Given the description of an element on the screen output the (x, y) to click on. 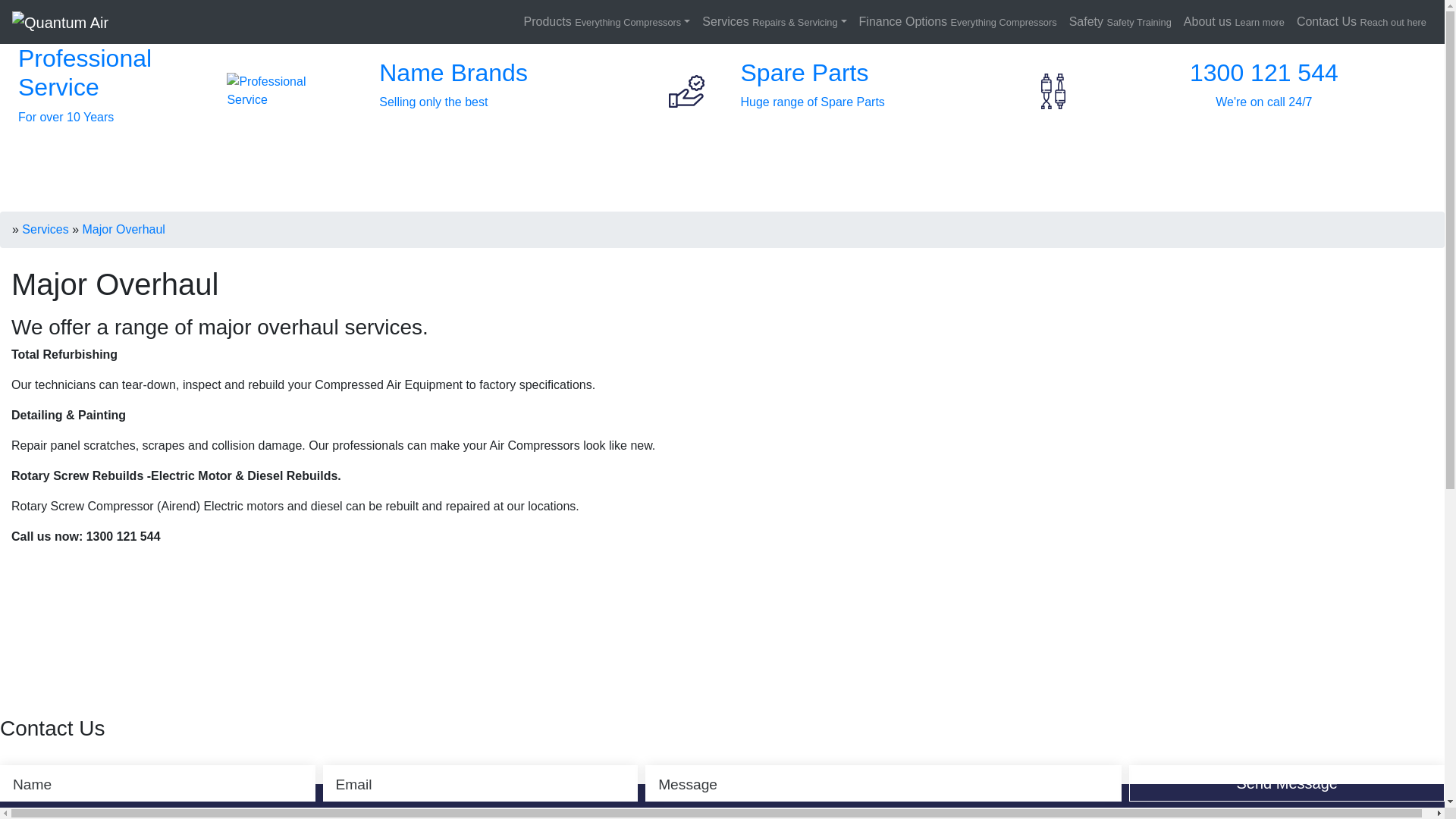
1300 121 544
We're on call 24/7 Element type: text (1263, 90)
Safety Safety Training Element type: text (1120, 21)
Products Everything Compressors Element type: text (606, 21)
Services Repairs & Servicing Element type: text (774, 21)
Professional Service
For over 10 Years Element type: text (180, 90)
About us Learn more Element type: text (1233, 21)
Major Overhaul Element type: text (122, 228)
Finance Options Everything Compressors Element type: text (958, 21)
Contact Us Reach out here Element type: text (1361, 21)
Name Brands
Selling only the best Element type: text (540, 90)
Spare Parts
Huge range of Spare Parts Element type: text (901, 90)
Services Element type: text (44, 228)
